Given the description of an element on the screen output the (x, y) to click on. 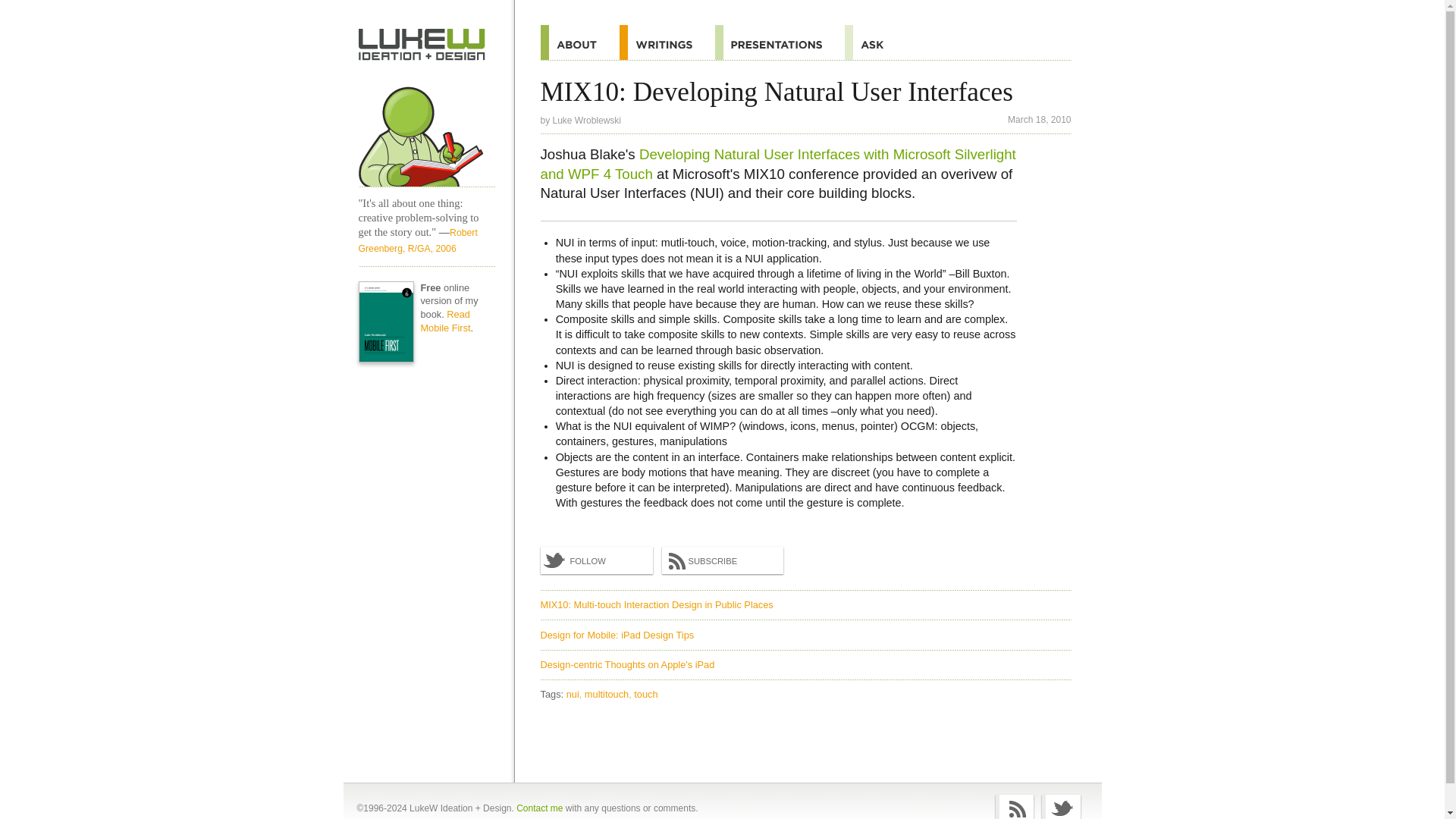
Subscribe to News (1014, 806)
Design for Mobile: iPad Design Tips (617, 634)
Home (426, 129)
Follow on Twitter (596, 560)
Ask (874, 42)
multitouch (608, 694)
Subscribe to News (722, 560)
Quotes (666, 42)
MIX10: Multi-touch Interaction Design in Public Places (656, 604)
About (579, 42)
FOLLOW (596, 560)
Luke Wroblewski (587, 120)
Contact me (539, 808)
touch (645, 694)
